Given the description of an element on the screen output the (x, y) to click on. 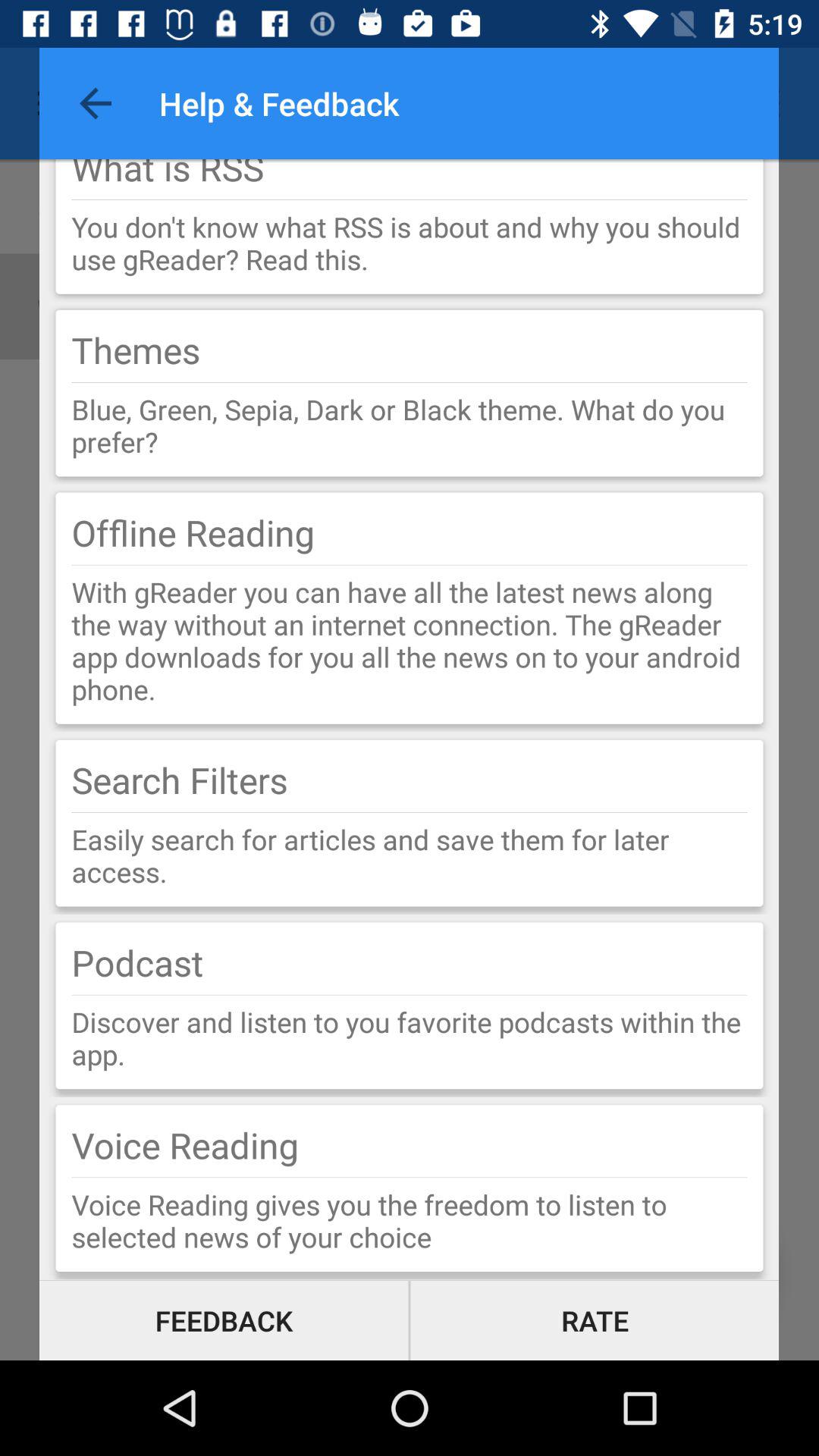
choose item below the easily search for icon (137, 962)
